Given the description of an element on the screen output the (x, y) to click on. 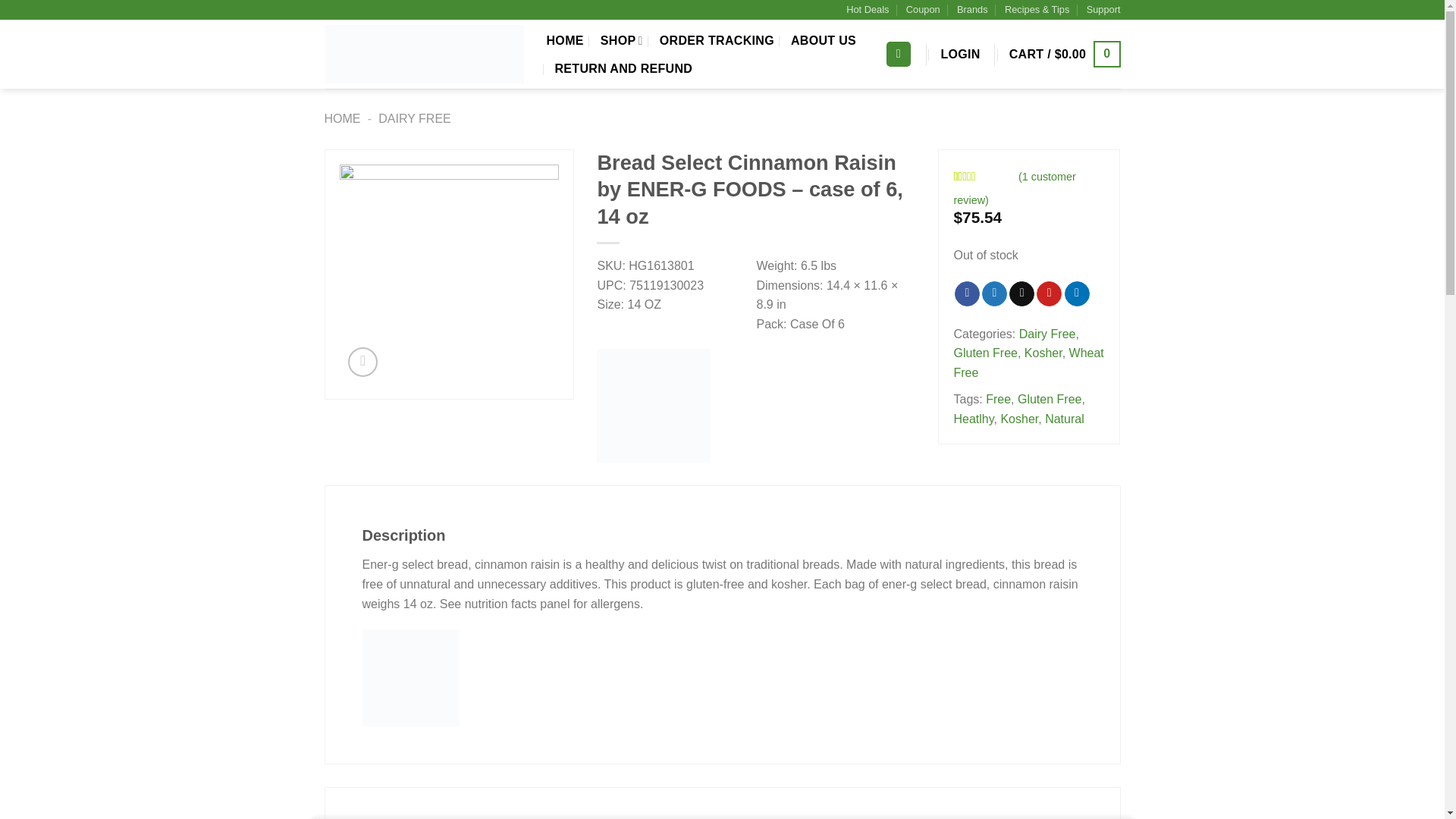
SHOP (621, 40)
Login (959, 53)
Support (1103, 9)
Hot Deals (866, 9)
Zoom (362, 361)
Coupon (922, 9)
Brands (972, 9)
HOME (564, 40)
View brand (653, 404)
Share on Facebook (967, 294)
